Given the description of an element on the screen output the (x, y) to click on. 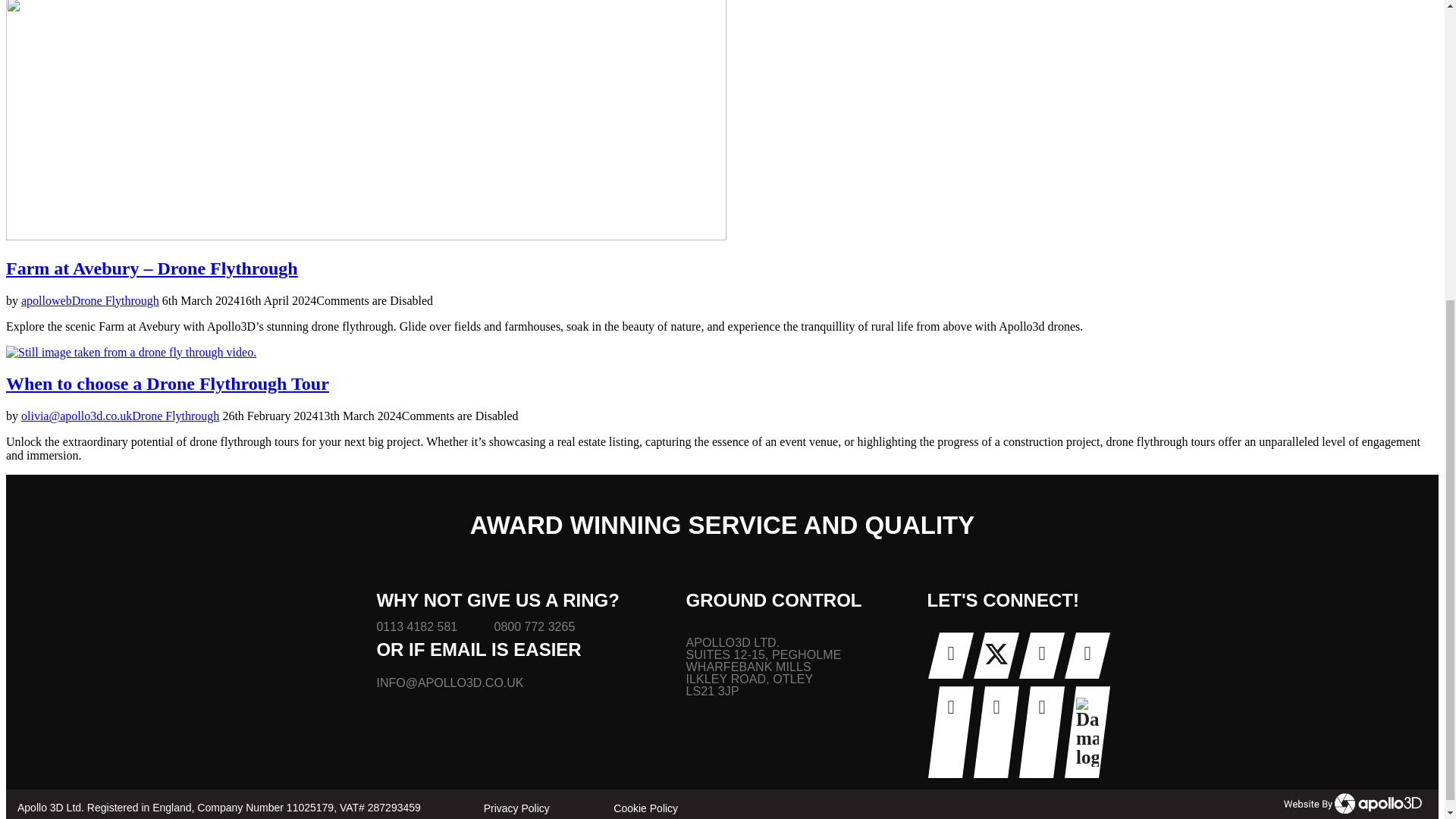
Link to Twitter (996, 655)
Link to Facebook (951, 655)
Link to Linkedin (1086, 655)
Link to Youtube (1041, 655)
